Given the description of an element on the screen output the (x, y) to click on. 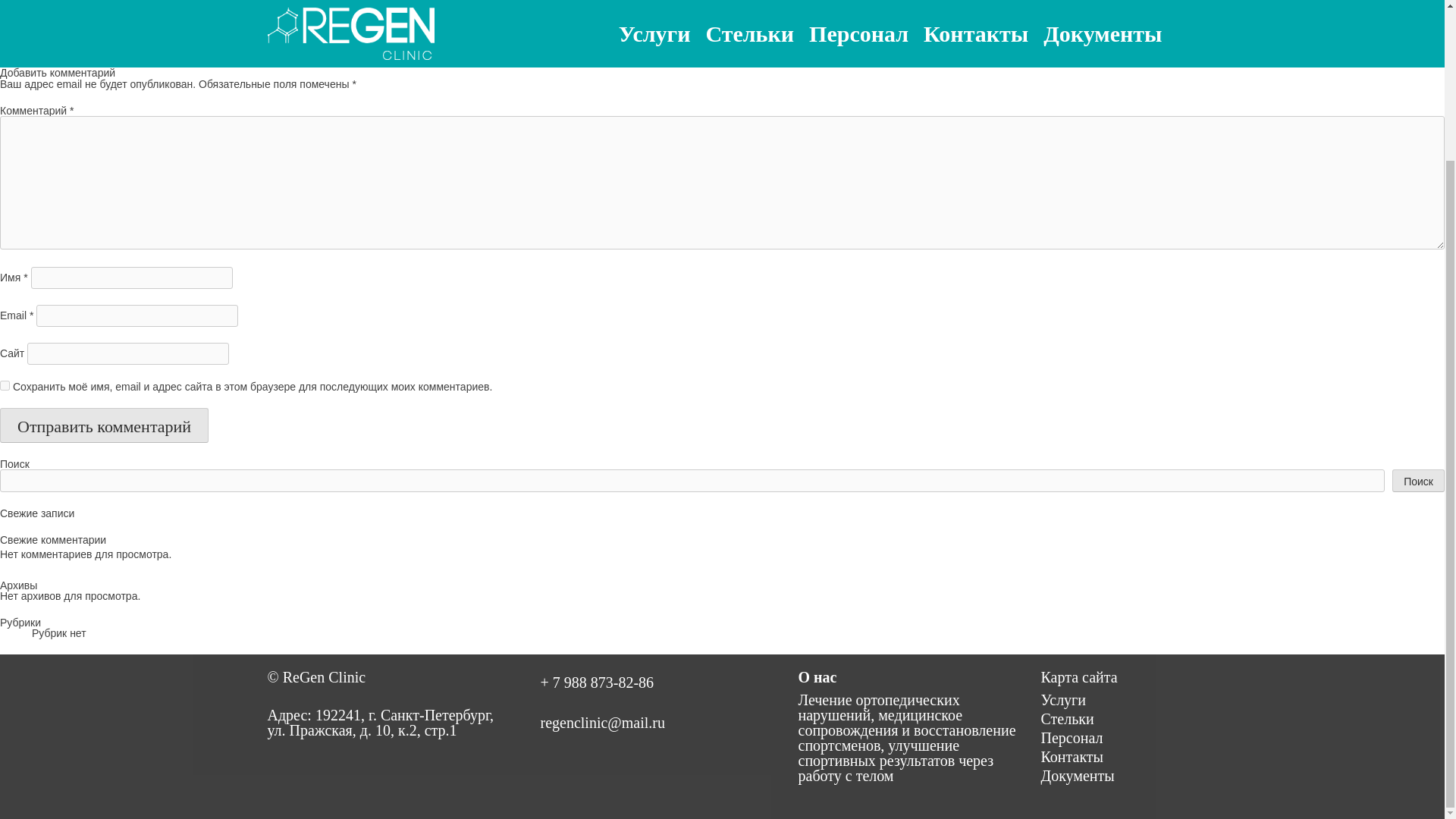
yes (5, 385)
Previous: Hi regenclinic.org Admin. This is Eric (109, 46)
